Given the description of an element on the screen output the (x, y) to click on. 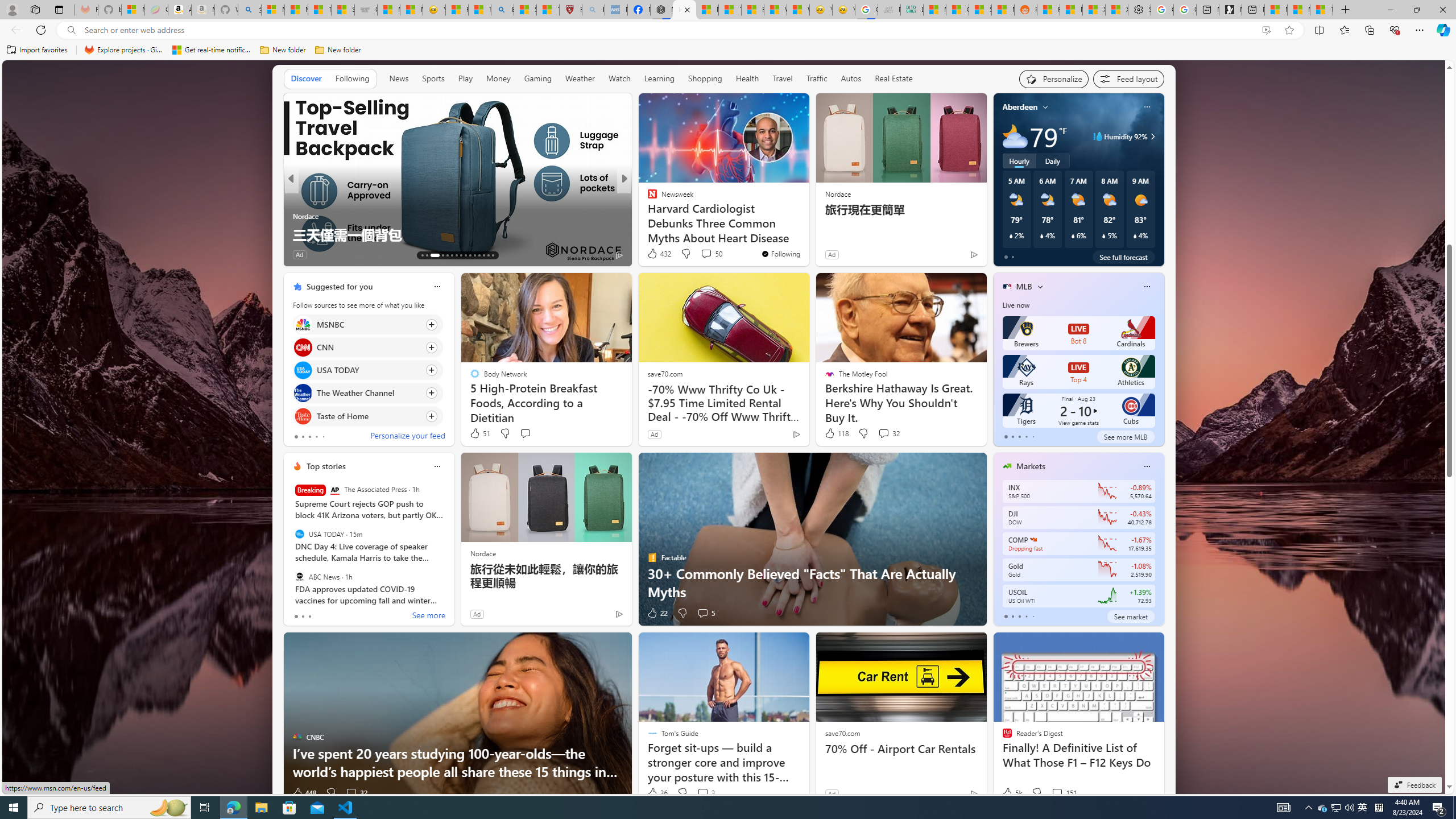
Combat Siege (365, 9)
save70.com (842, 732)
12 Popular Science Lies that Must be Corrected (547, 9)
Humidity 92% (1150, 136)
View comments 6 Comment (705, 254)
Recipes - MSN (457, 9)
Watch (619, 79)
AutomationID: tab-80 (488, 255)
